Given the description of an element on the screen output the (x, y) to click on. 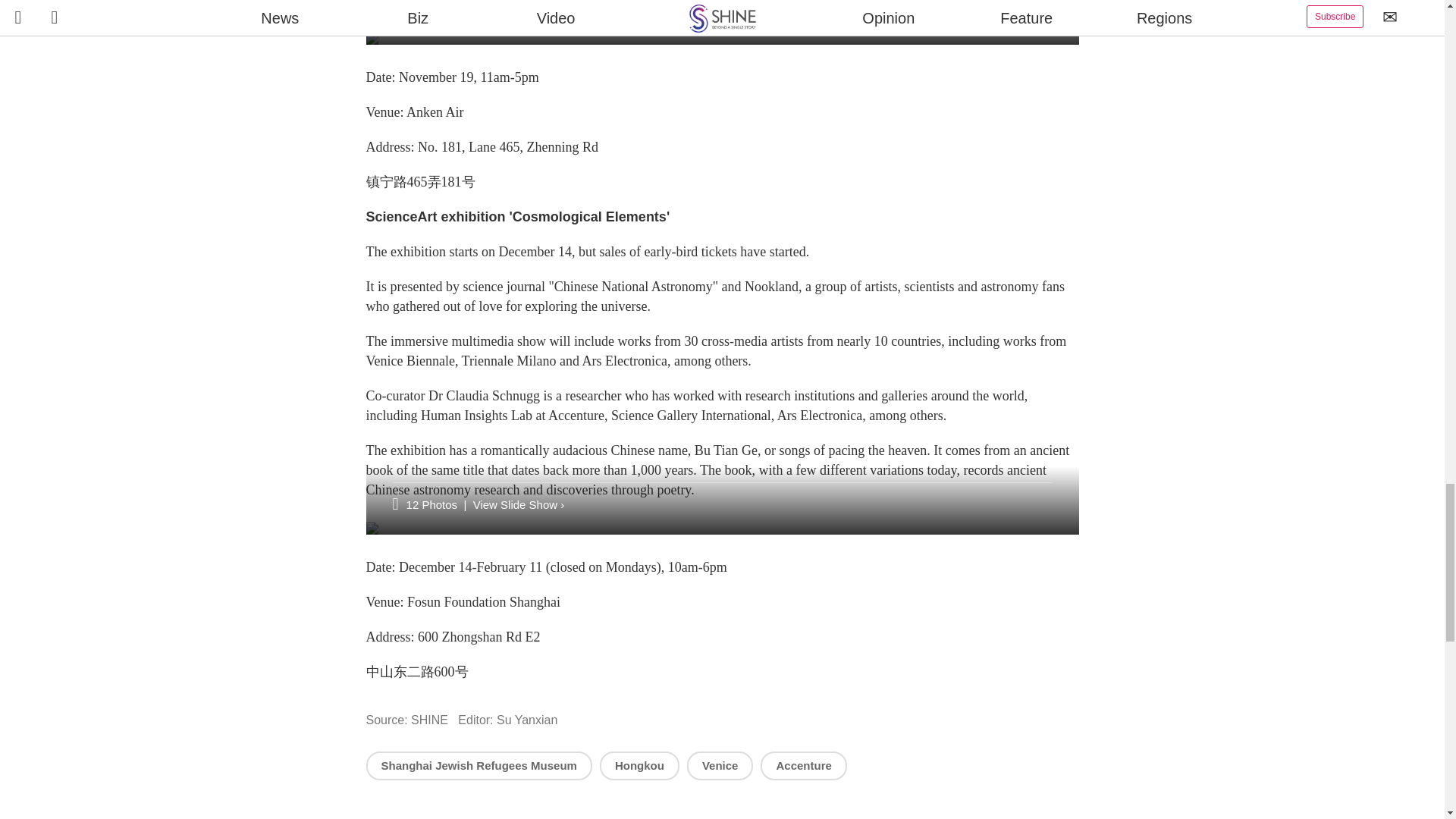
Hongkou (639, 765)
Accenture (802, 765)
Shanghai Jewish Refugees Museum (478, 765)
Venice (720, 765)
